Given the description of an element on the screen output the (x, y) to click on. 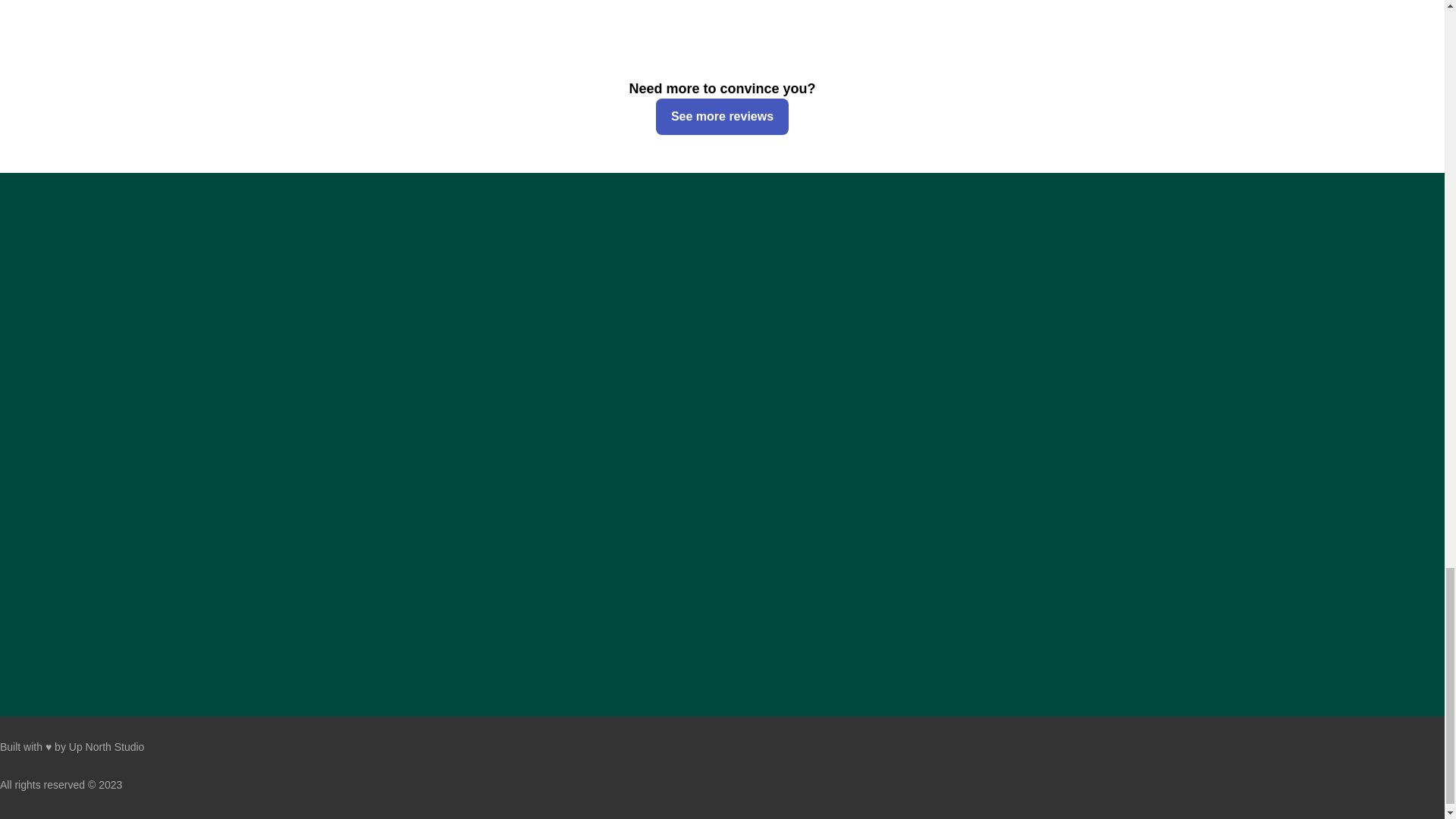
See more reviews (722, 116)
